Given the description of an element on the screen output the (x, y) to click on. 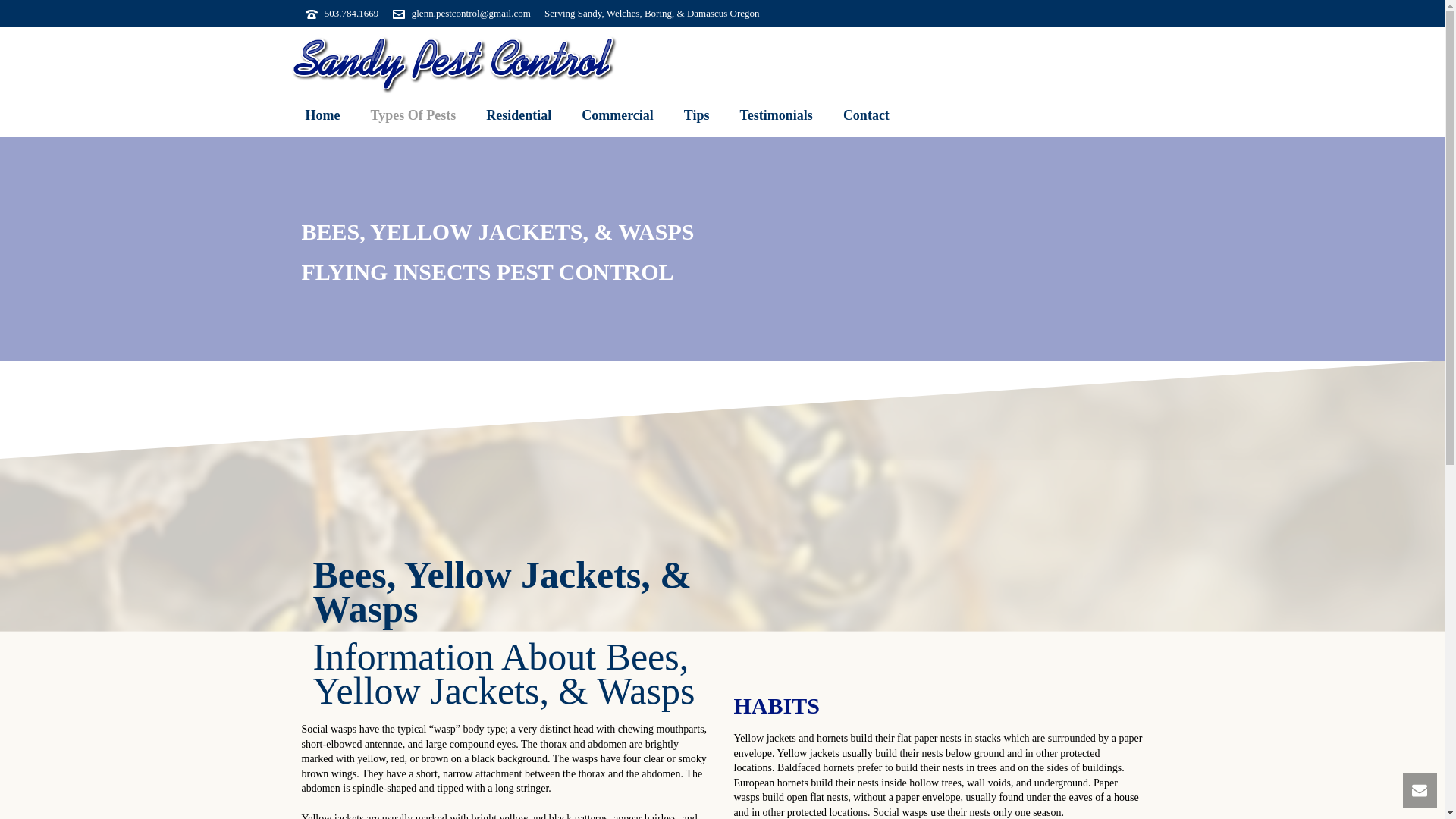
Gresham pest, rodent, rat, bug and mice removal expert (412, 115)
Residential (518, 115)
Home (322, 115)
Tips (696, 115)
Testimonials (776, 115)
Commercial (617, 115)
Commercial (617, 115)
Tips (696, 115)
Testimonials (776, 115)
Gresham pest, rodent, rat, bug and mice removal expert (322, 115)
